Given the description of an element on the screen output the (x, y) to click on. 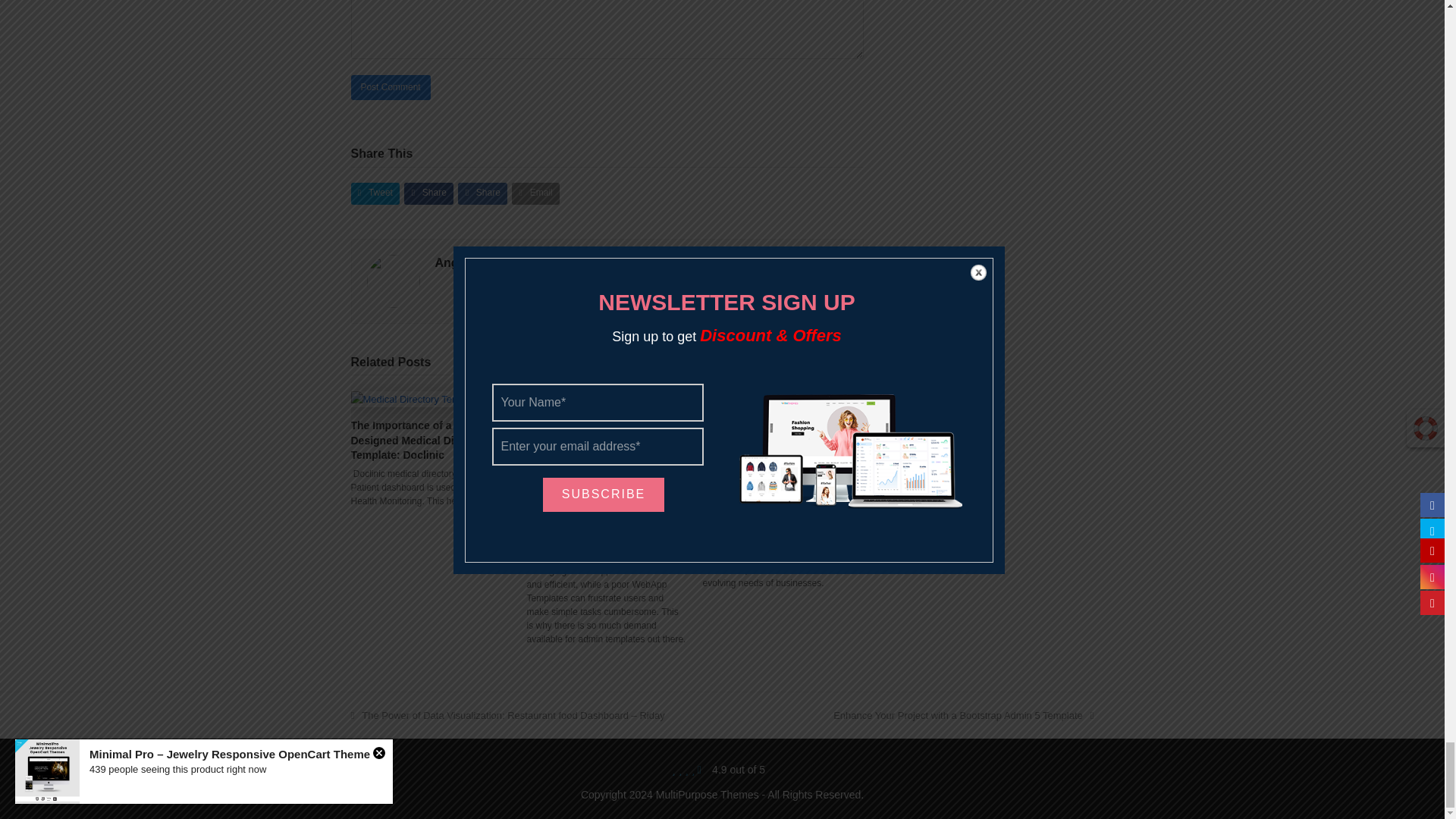
Visit Author Page (393, 279)
Post Comment (389, 87)
Visit Author Page (473, 262)
